Given the description of an element on the screen output the (x, y) to click on. 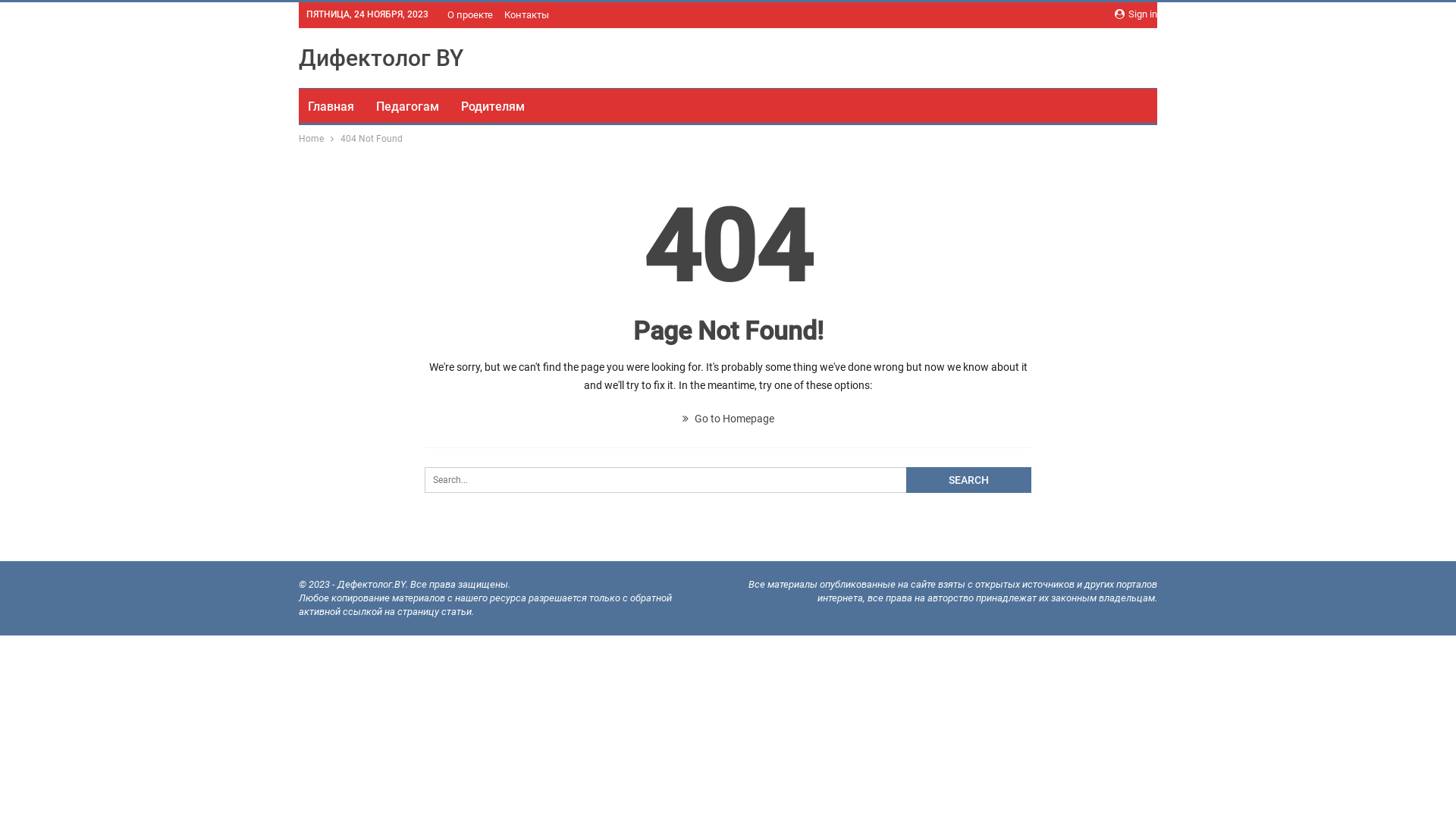
Search for: Element type: hover (727, 479)
Home Element type: text (310, 138)
Search Element type: text (968, 479)
Sign in Element type: text (1135, 14)
Go to Homepage Element type: text (728, 418)
